Given the description of an element on the screen output the (x, y) to click on. 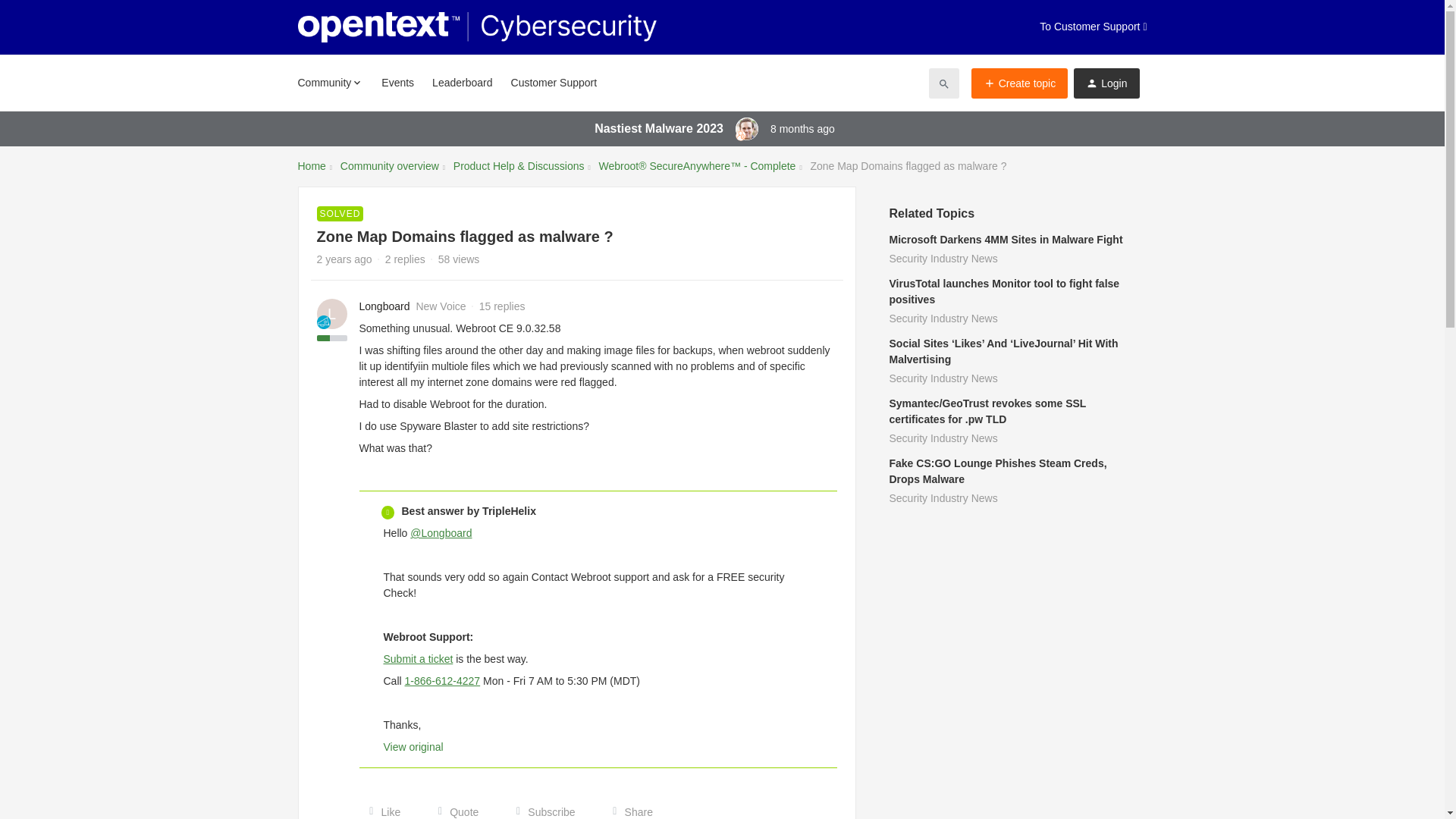
Community (329, 82)
To Customer Support (1093, 26)
